Given the description of an element on the screen output the (x, y) to click on. 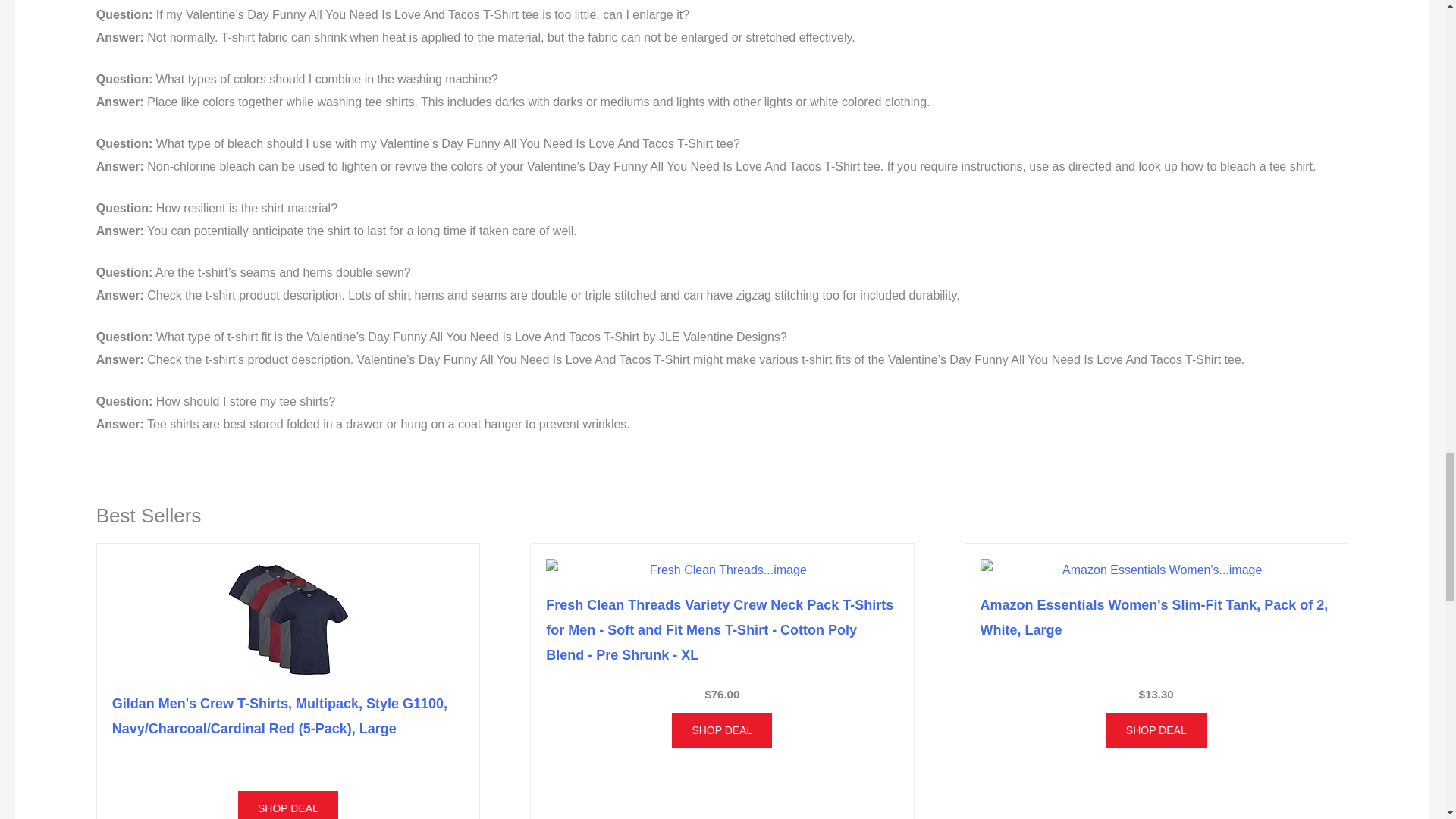
SHOP DEAL (287, 805)
